Given the description of an element on the screen output the (x, y) to click on. 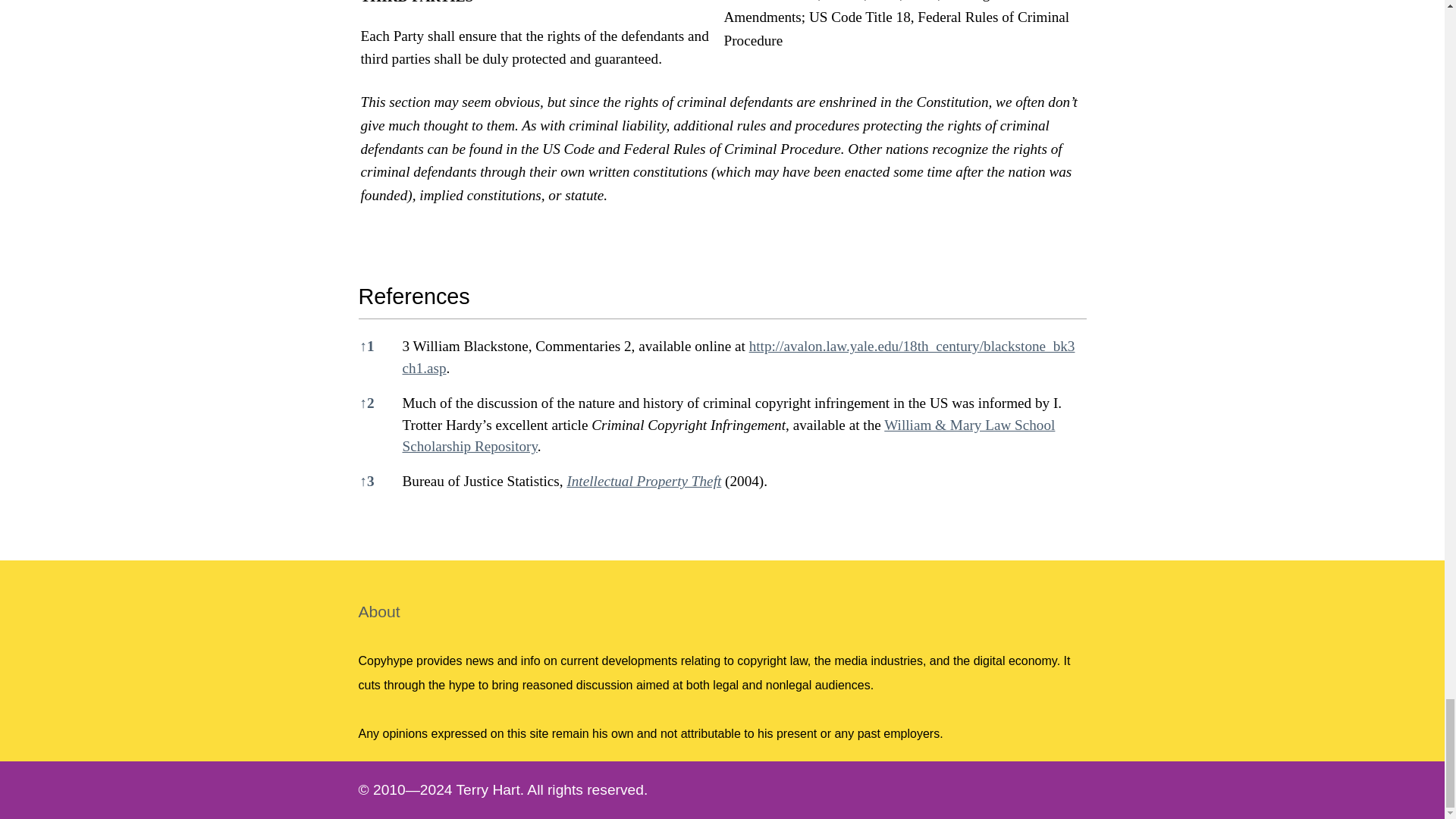
Intellectual Property Theft (643, 480)
